Given the description of an element on the screen output the (x, y) to click on. 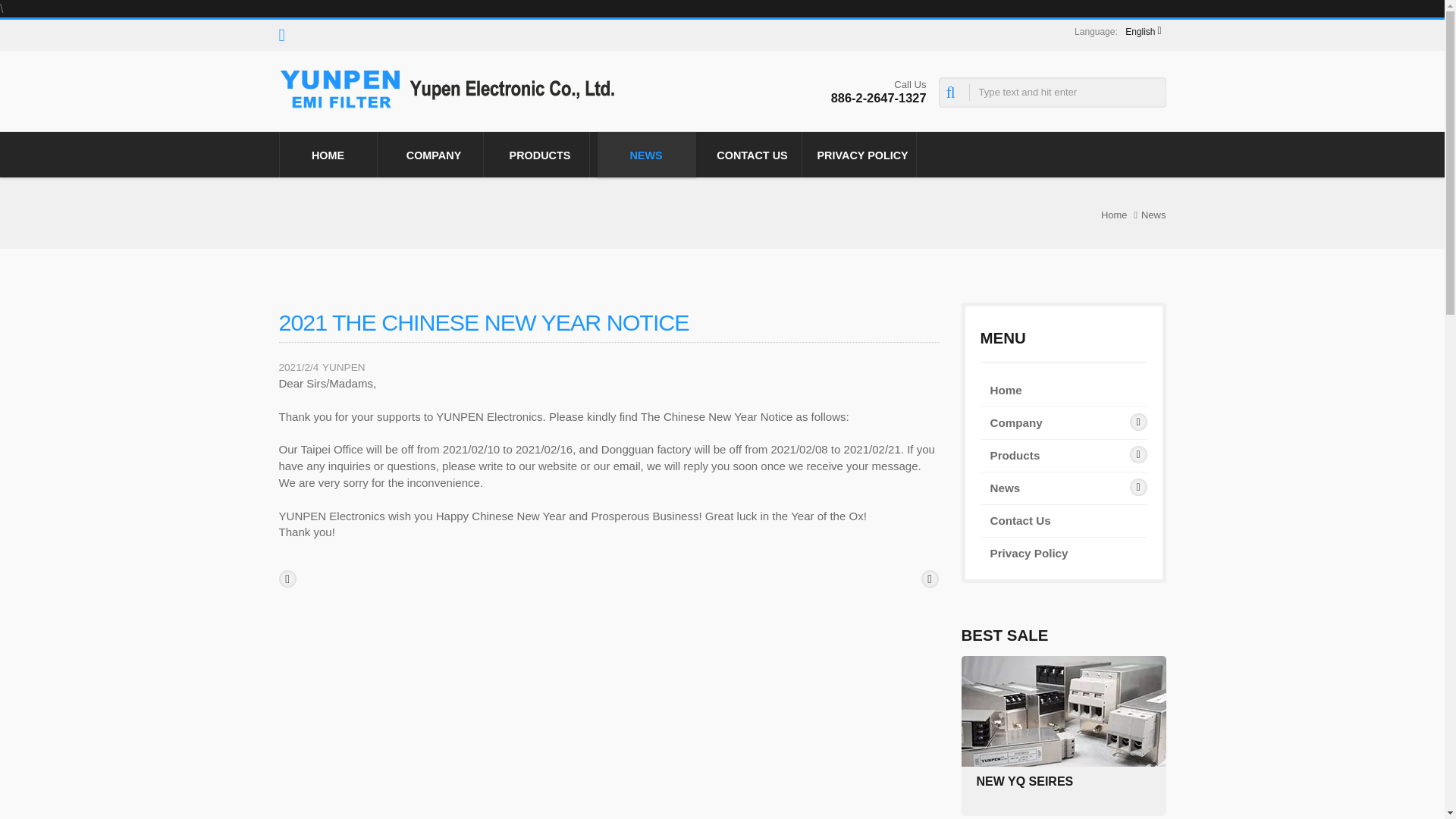
PRODUCTS (540, 154)
Home (1006, 390)
English (1144, 31)
Company (1016, 422)
Products (1015, 455)
CONTACT US (752, 154)
NEWS (645, 154)
News (1153, 214)
HOME (327, 154)
PRIVACY POLICY (862, 154)
Type text and hit enter (1051, 93)
Home (1113, 214)
News (1005, 487)
COMPANY (434, 154)
